Given the description of an element on the screen output the (x, y) to click on. 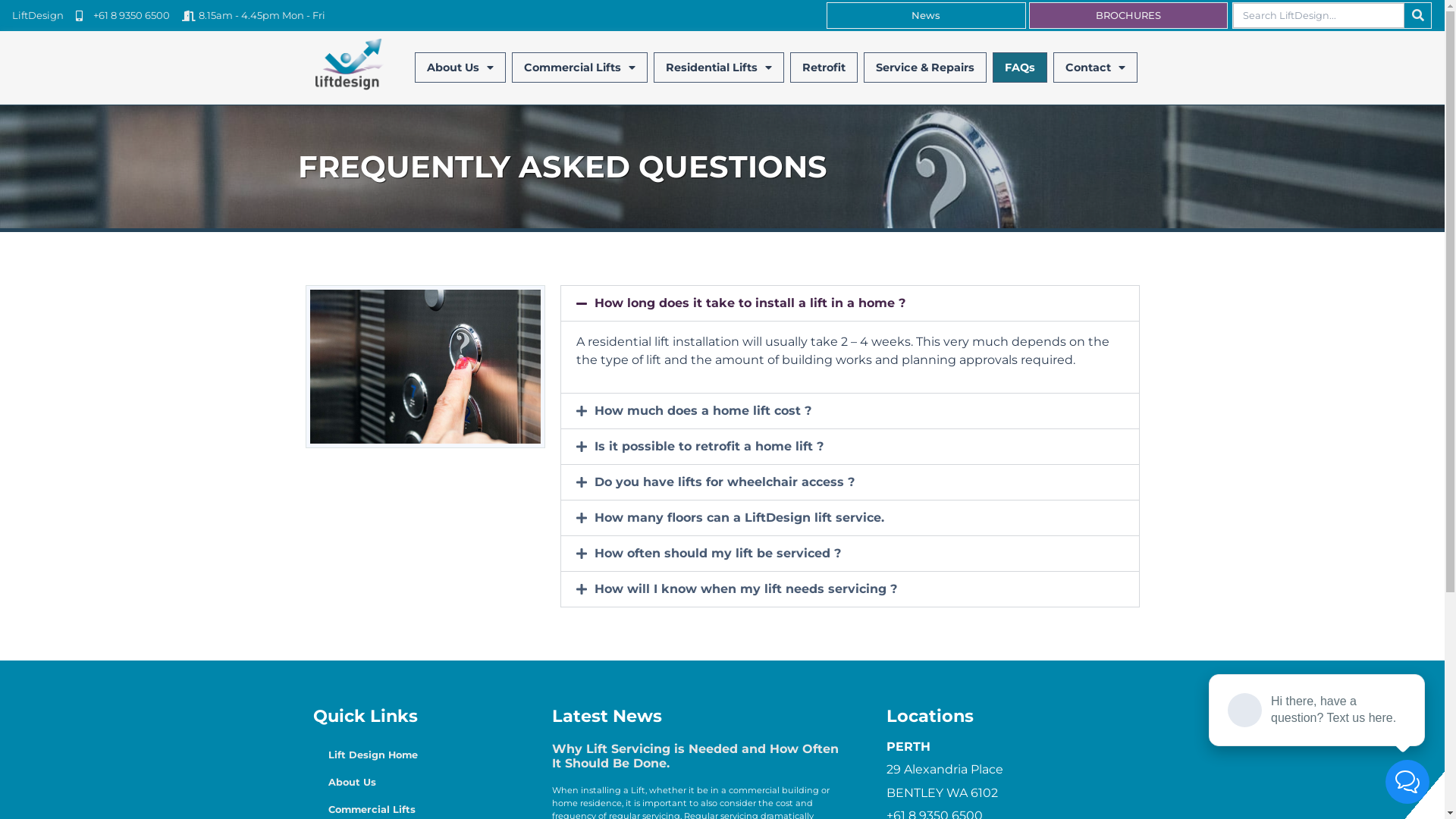
Service & Repairs Element type: text (924, 67)
LiftDesign Element type: text (37, 15)
+61 8 9350 6500 Element type: text (122, 15)
About Us Element type: text (409, 782)
Lift Design Home Element type: text (409, 754)
How will I know when my lift needs servicing ? Element type: text (745, 588)
Is it possible to retrofit a home lift ? Element type: text (708, 446)
How long does it take to install a lift in a home ? Element type: text (749, 302)
Do you have lifts for wheelchair access ? Element type: text (724, 481)
How much does a home lift cost ? Element type: text (702, 410)
Residential Lifts Element type: text (718, 67)
FAQs Element type: text (1019, 67)
Commercial Lifts Element type: text (579, 67)
How many floors can a LiftDesign lift service. Element type: text (739, 517)
How often should my lift be serviced ? Element type: text (717, 553)
Retrofit Element type: text (823, 67)
About Us Element type: text (459, 67)
Contact Element type: text (1095, 67)
BROCHURES Element type: text (1128, 15)
News Element type: text (926, 15)
